Given the description of an element on the screen output the (x, y) to click on. 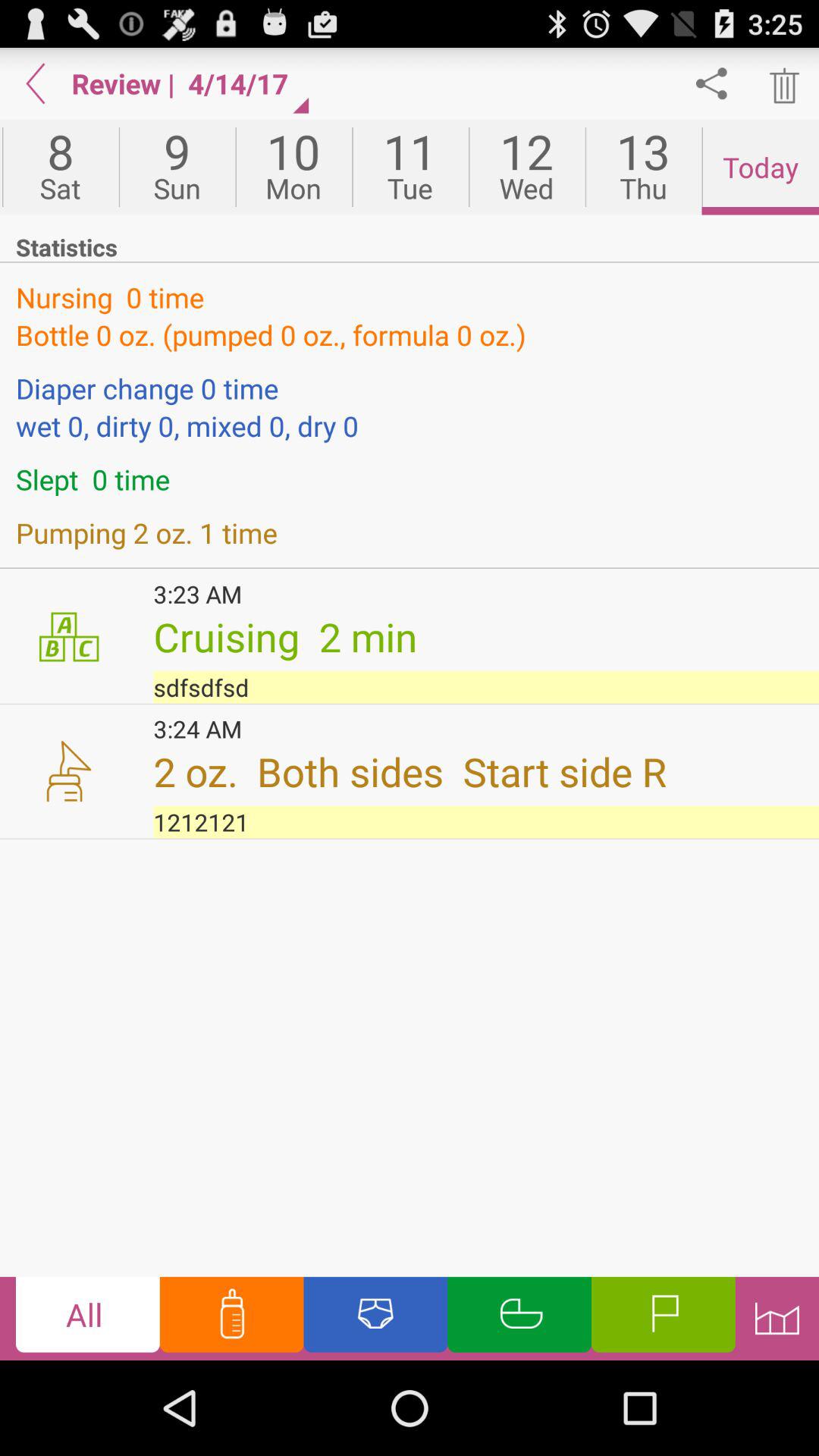
open the app to the left of the 10 app (176, 166)
